Given the description of an element on the screen output the (x, y) to click on. 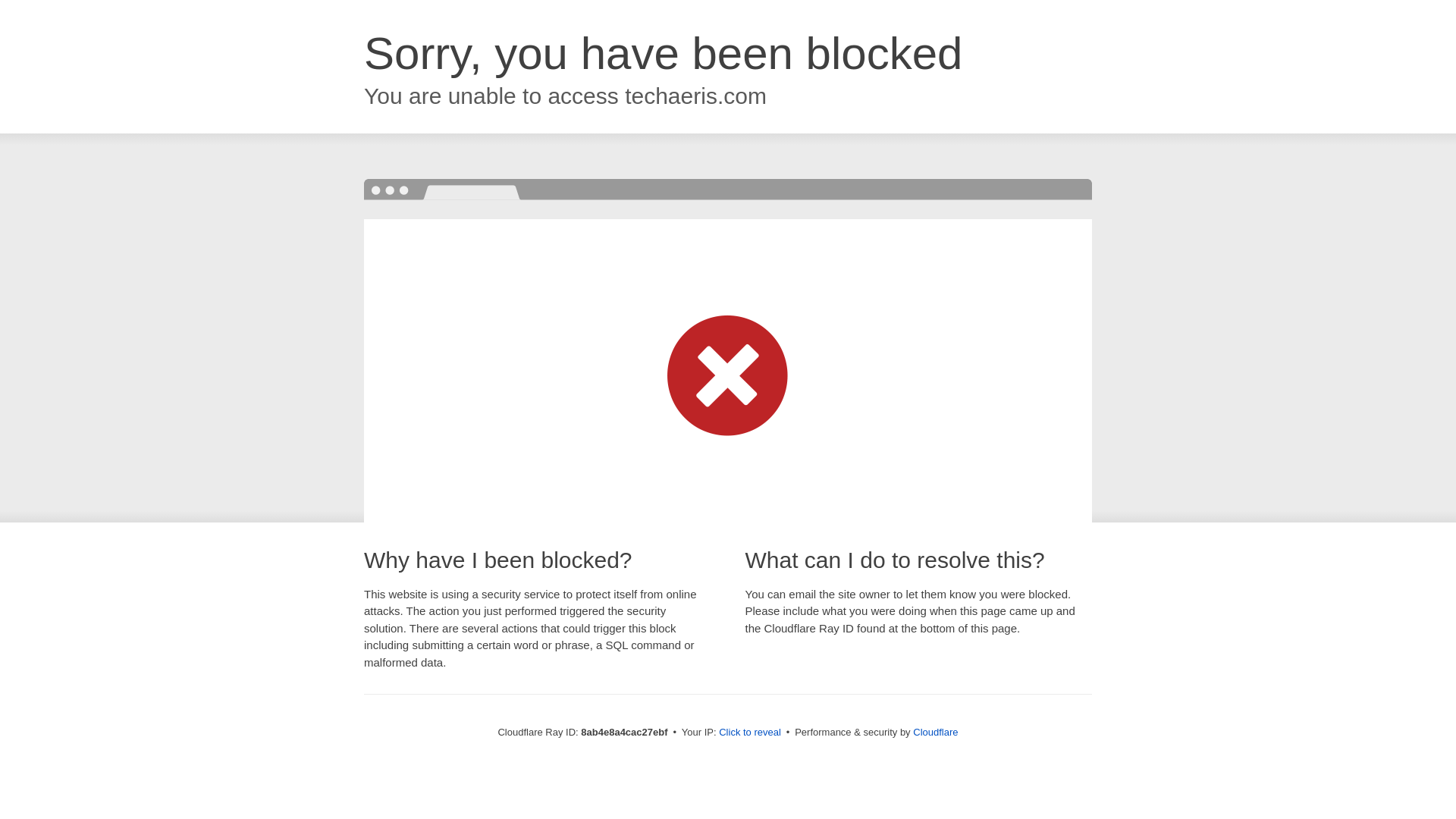
Cloudflare (935, 731)
Click to reveal (749, 732)
